Given the description of an element on the screen output the (x, y) to click on. 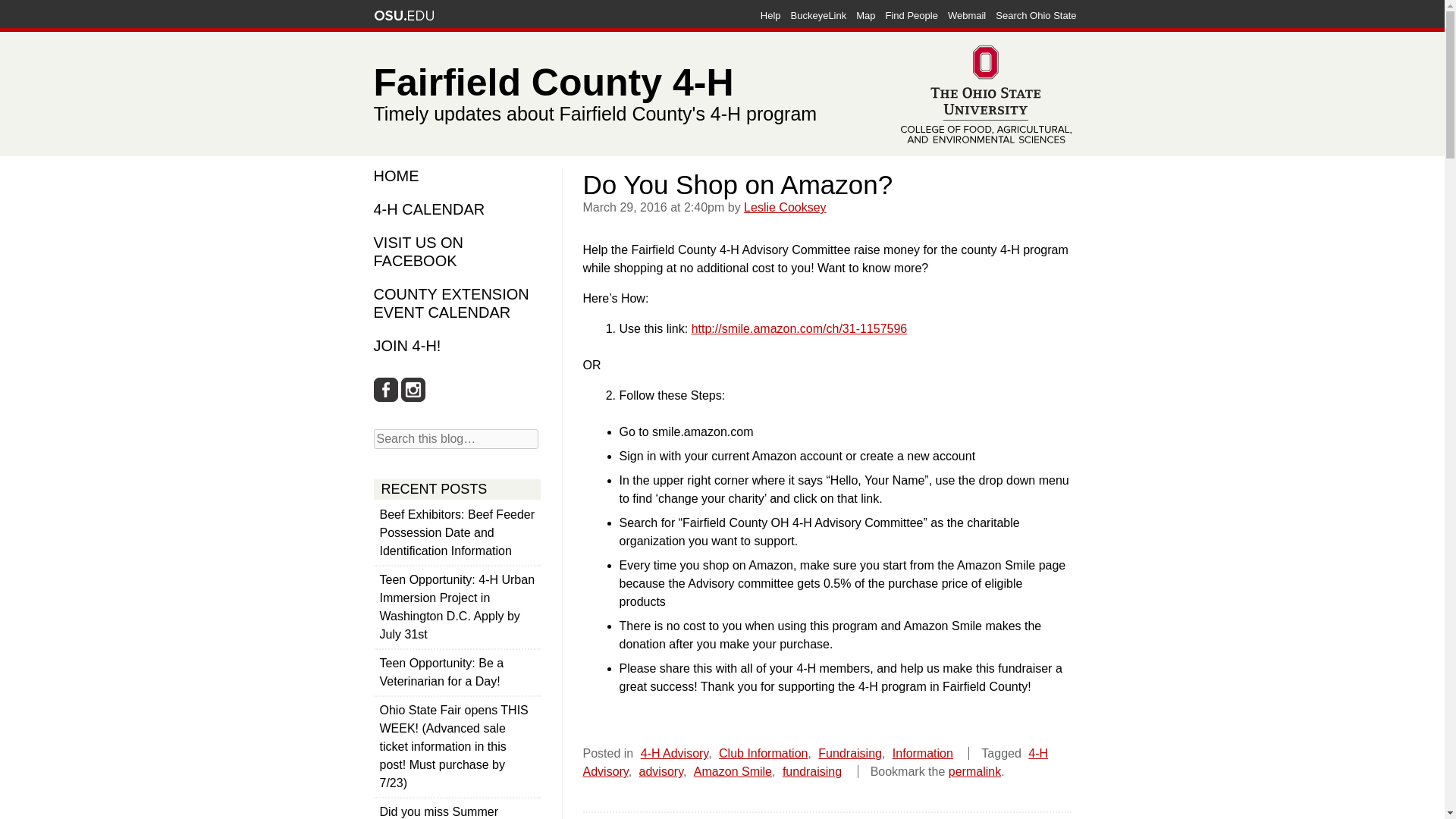
fairfield4h on Facebook (384, 389)
4-H CALENDAR (430, 209)
Fairfield County 4-H (634, 78)
COUNTY EXTENSION EVENT CALENDAR (450, 303)
Search Ohio State (1035, 15)
The Ohio State University (402, 15)
View all posts by Leslie Cooksey (785, 206)
Fairfield County 4-H (634, 78)
Teen Opportunity: Be a Veterinarian for a Day! (456, 672)
Search (24, 9)
The Ohio State University (402, 15)
Map (865, 15)
Webmail (966, 15)
